Given the description of an element on the screen output the (x, y) to click on. 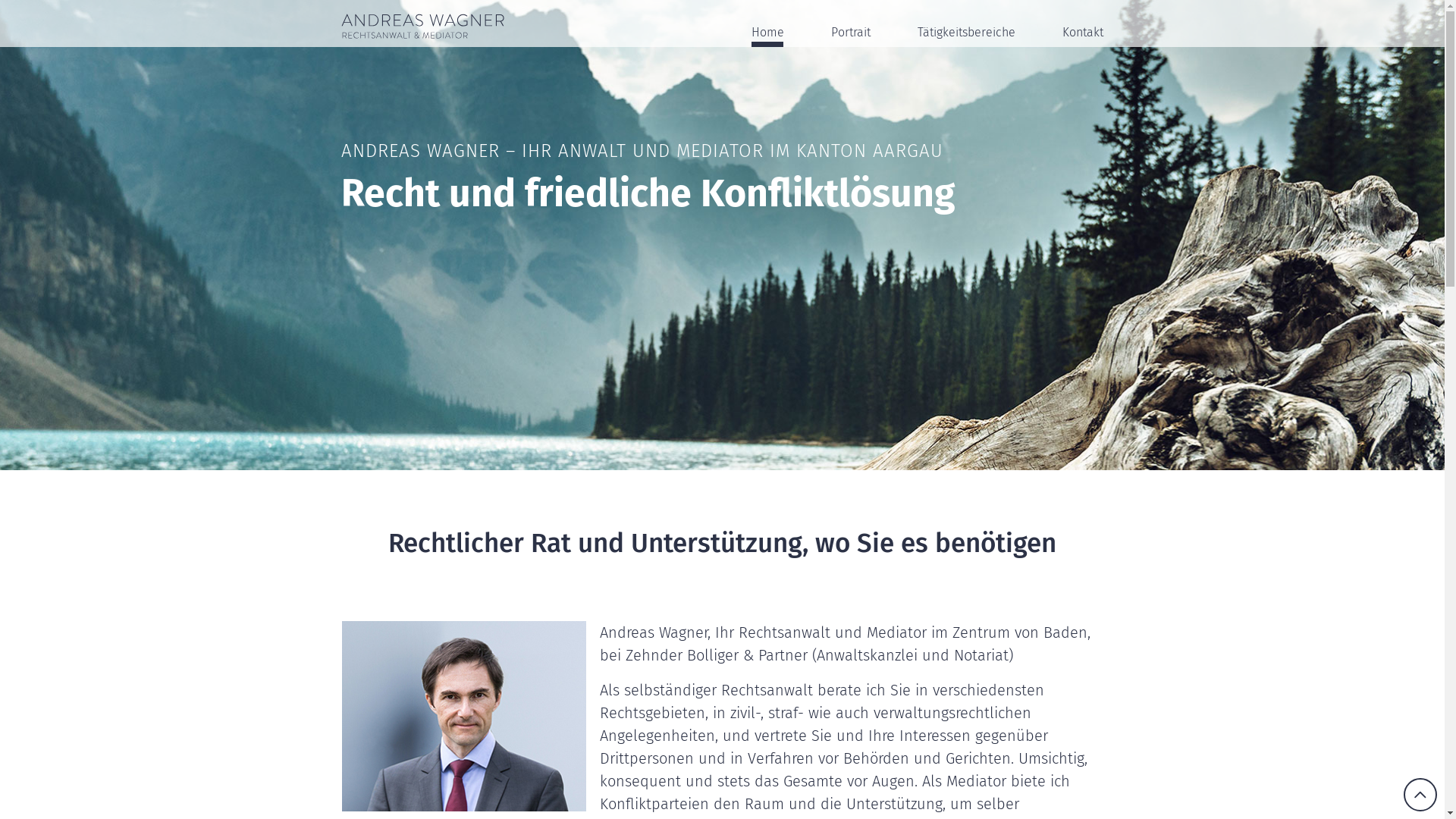
Kontakt Element type: text (1081, 30)
Go To Top Element type: text (1420, 794)
Portrait Element type: text (850, 30)
